Given the description of an element on the screen output the (x, y) to click on. 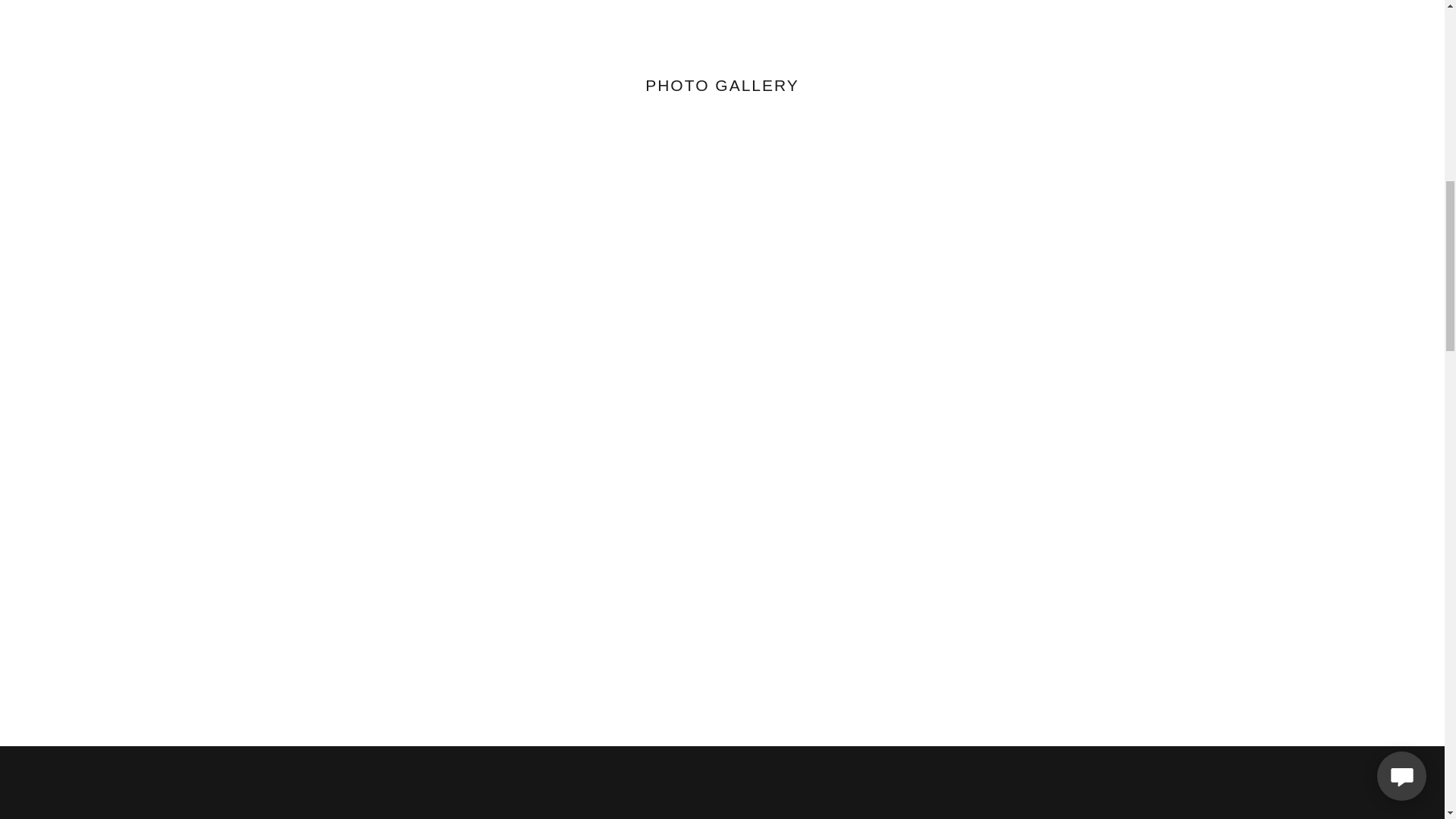
ACCEPT (1274, 324)
